Given the description of an element on the screen output the (x, y) to click on. 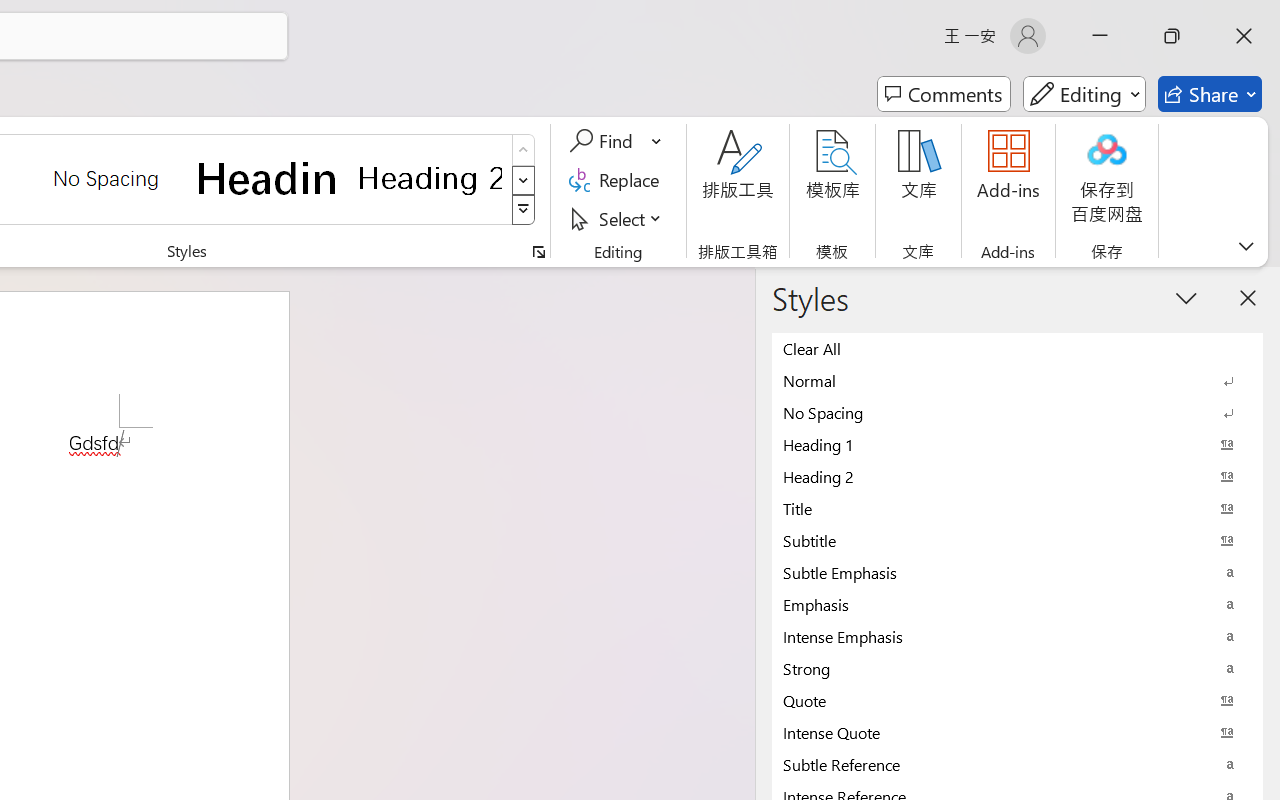
Strong (1017, 668)
Row up (523, 150)
Styles... (538, 252)
Normal (1017, 380)
